Given the description of an element on the screen output the (x, y) to click on. 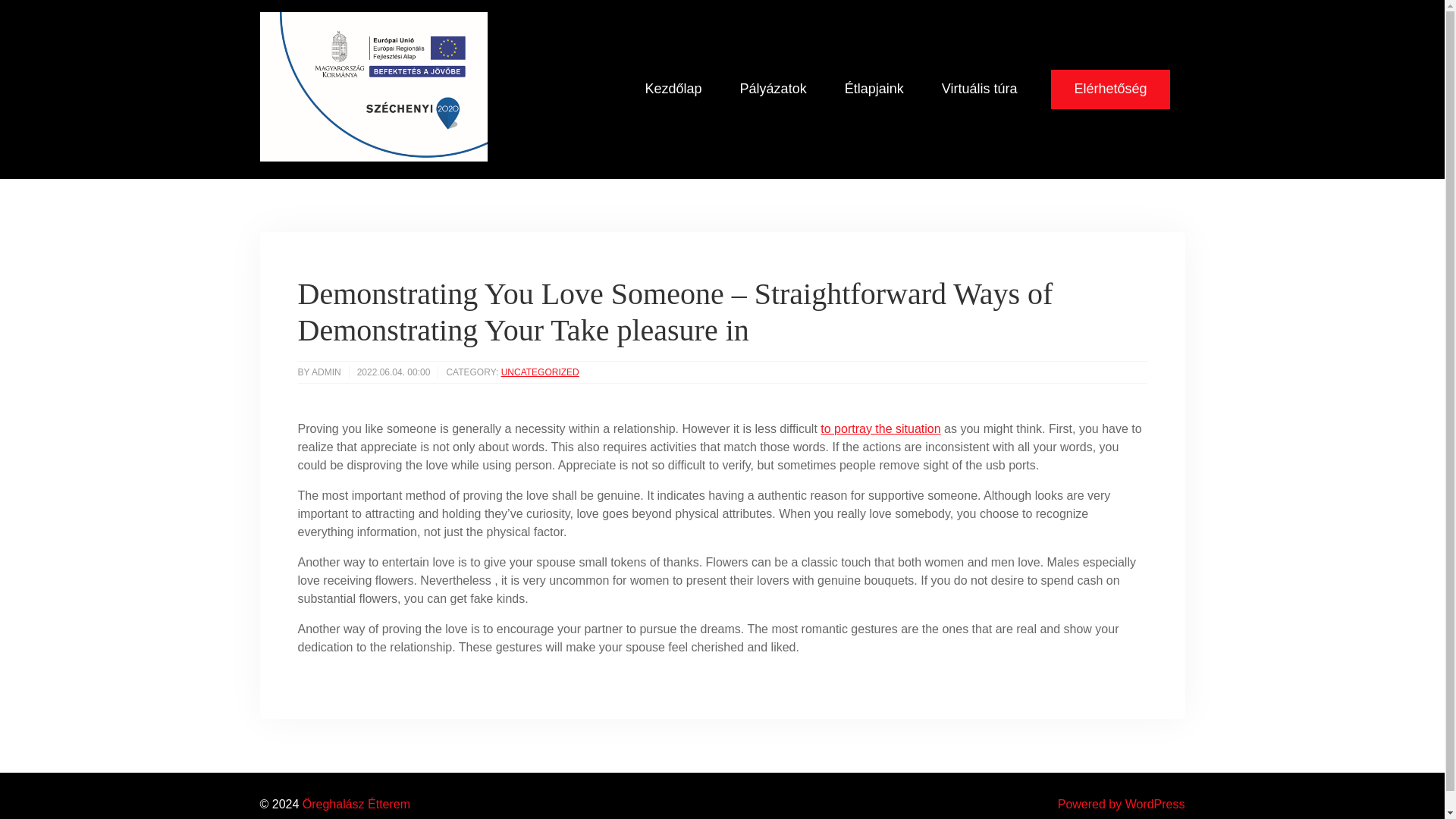
to portray the situation (880, 428)
UNCATEGORIZED (539, 371)
Powered by WordPress (1121, 803)
